Given the description of an element on the screen output the (x, y) to click on. 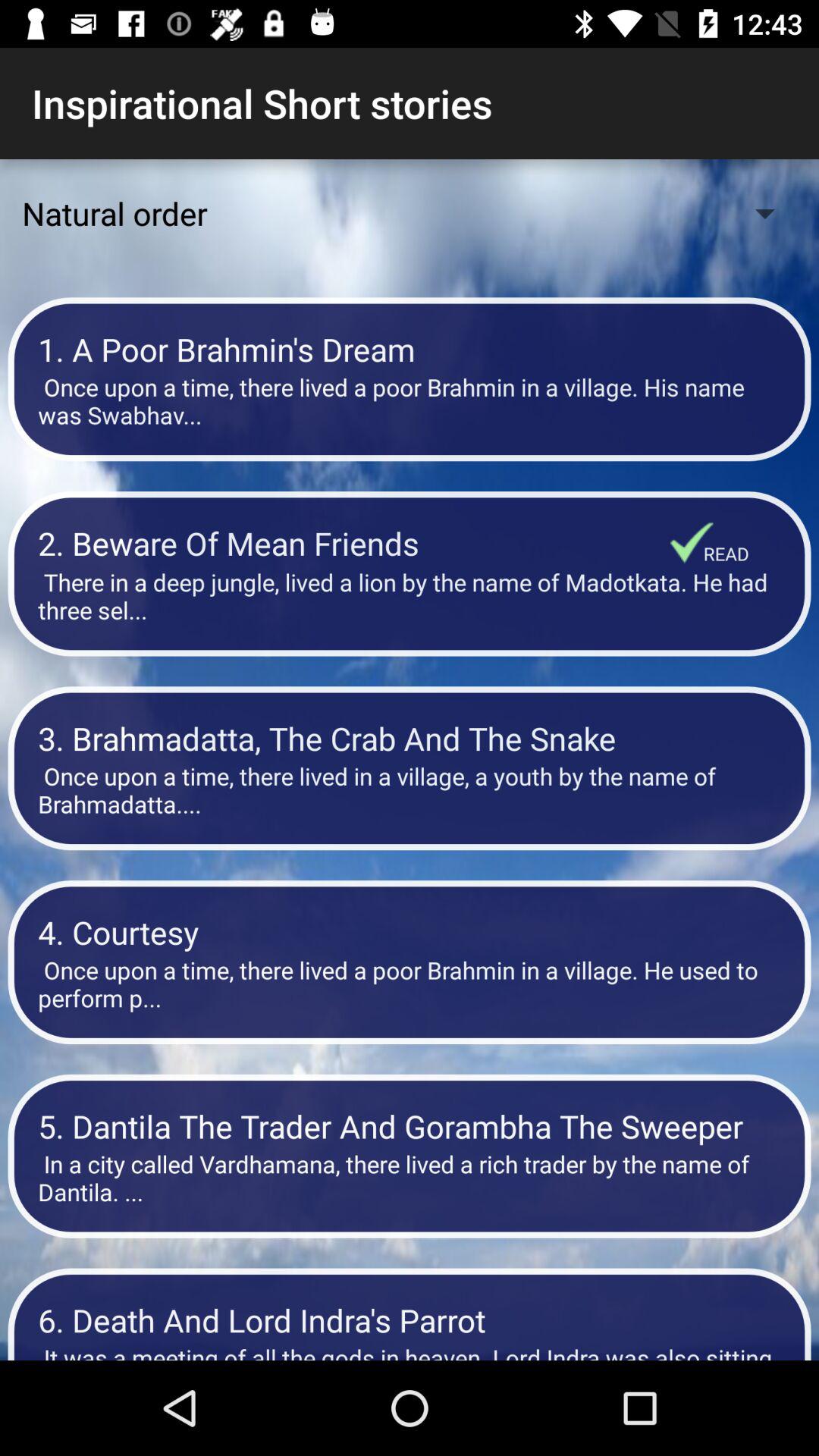
flip to 2 beware of item (354, 542)
